Given the description of an element on the screen output the (x, y) to click on. 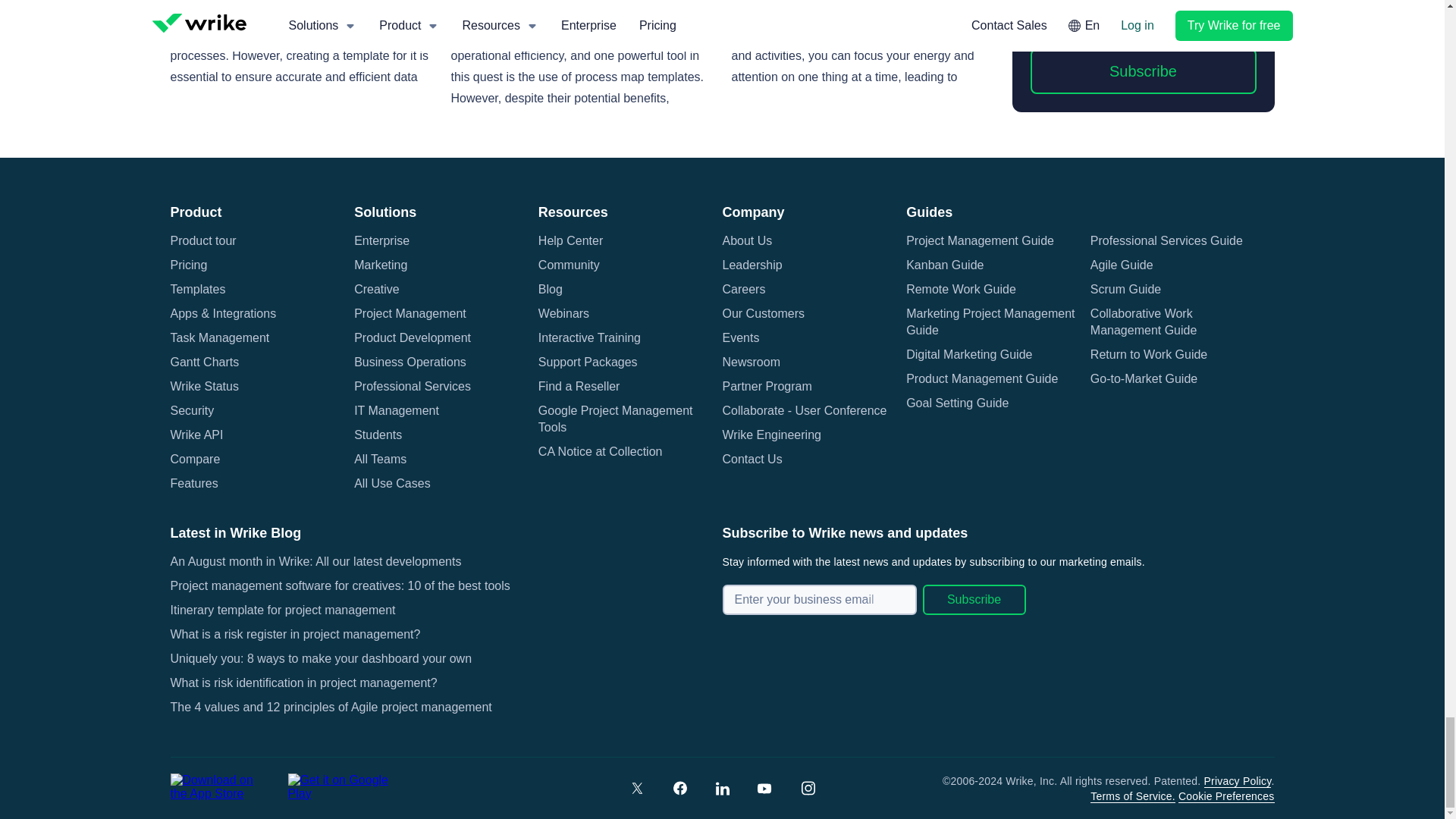
Templates (197, 289)
Task Management (219, 337)
Compare (194, 459)
Features (193, 483)
Product tour (202, 241)
Pricing (188, 265)
Professional Services (411, 386)
Marketing (380, 265)
Gantt Charts (204, 362)
Business Operations (409, 362)
